Given the description of an element on the screen output the (x, y) to click on. 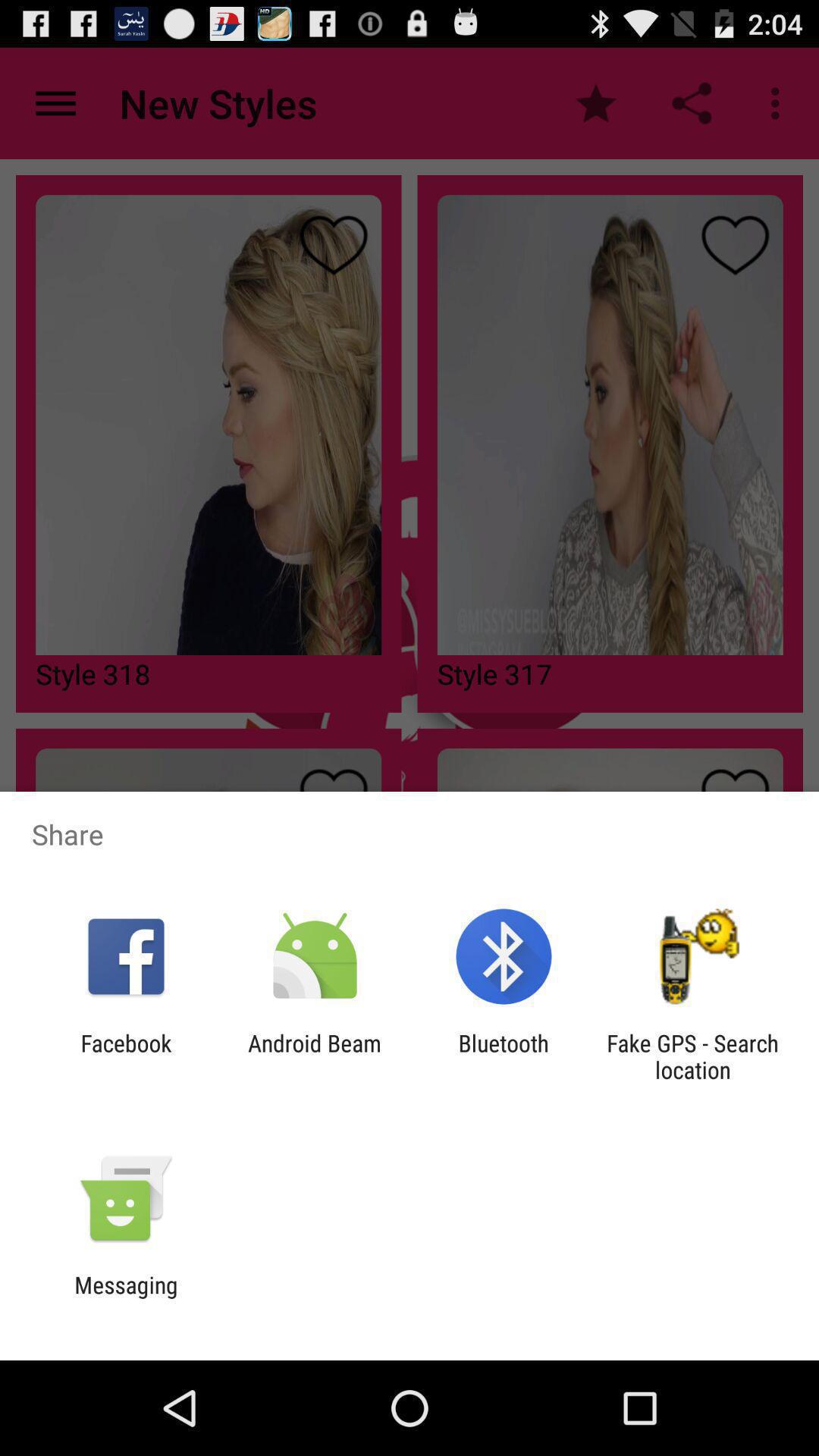
click the item to the right of the android beam item (503, 1056)
